Given the description of an element on the screen output the (x, y) to click on. 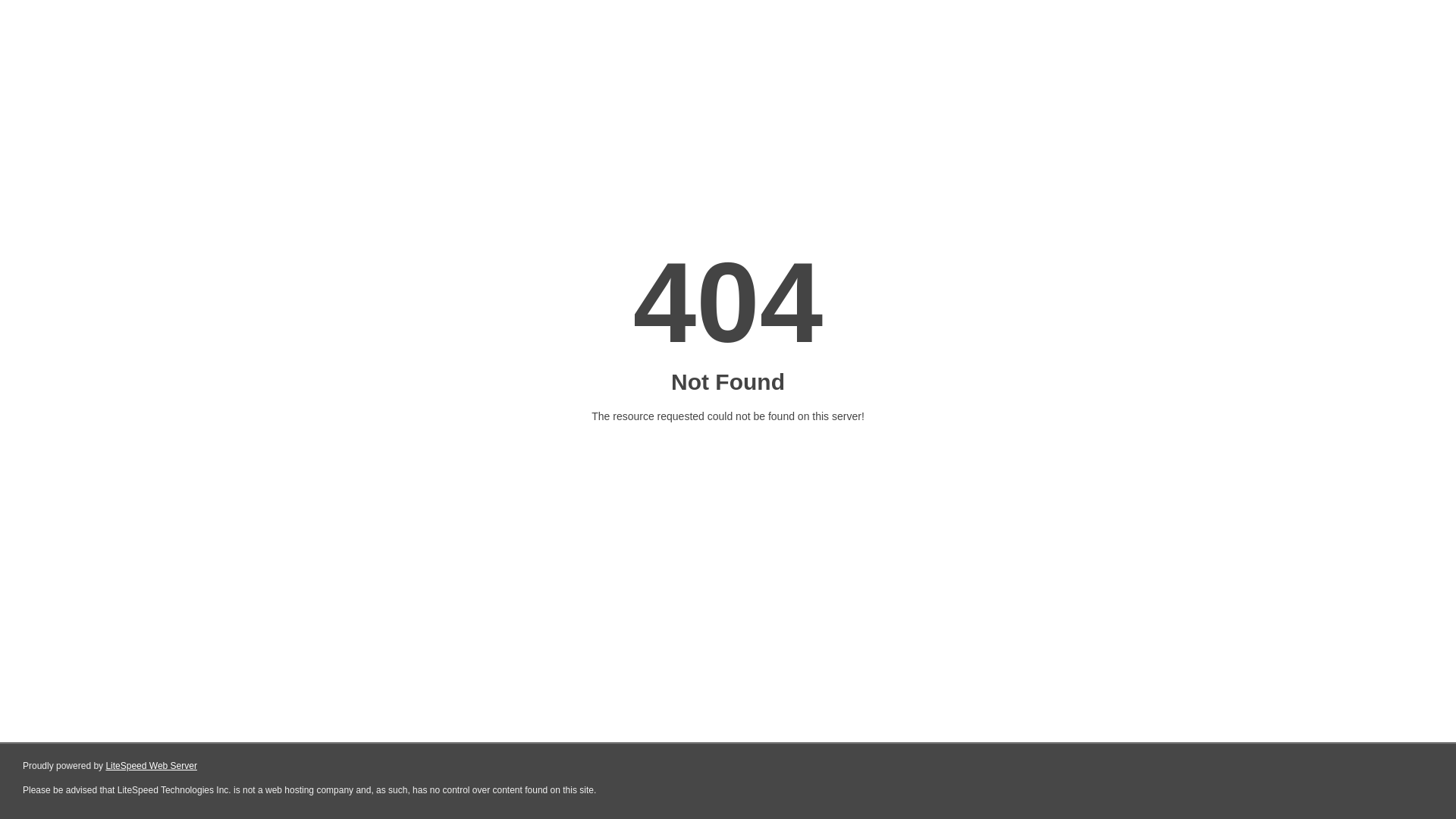
LiteSpeed Web Server Element type: text (151, 765)
